Given the description of an element on the screen output the (x, y) to click on. 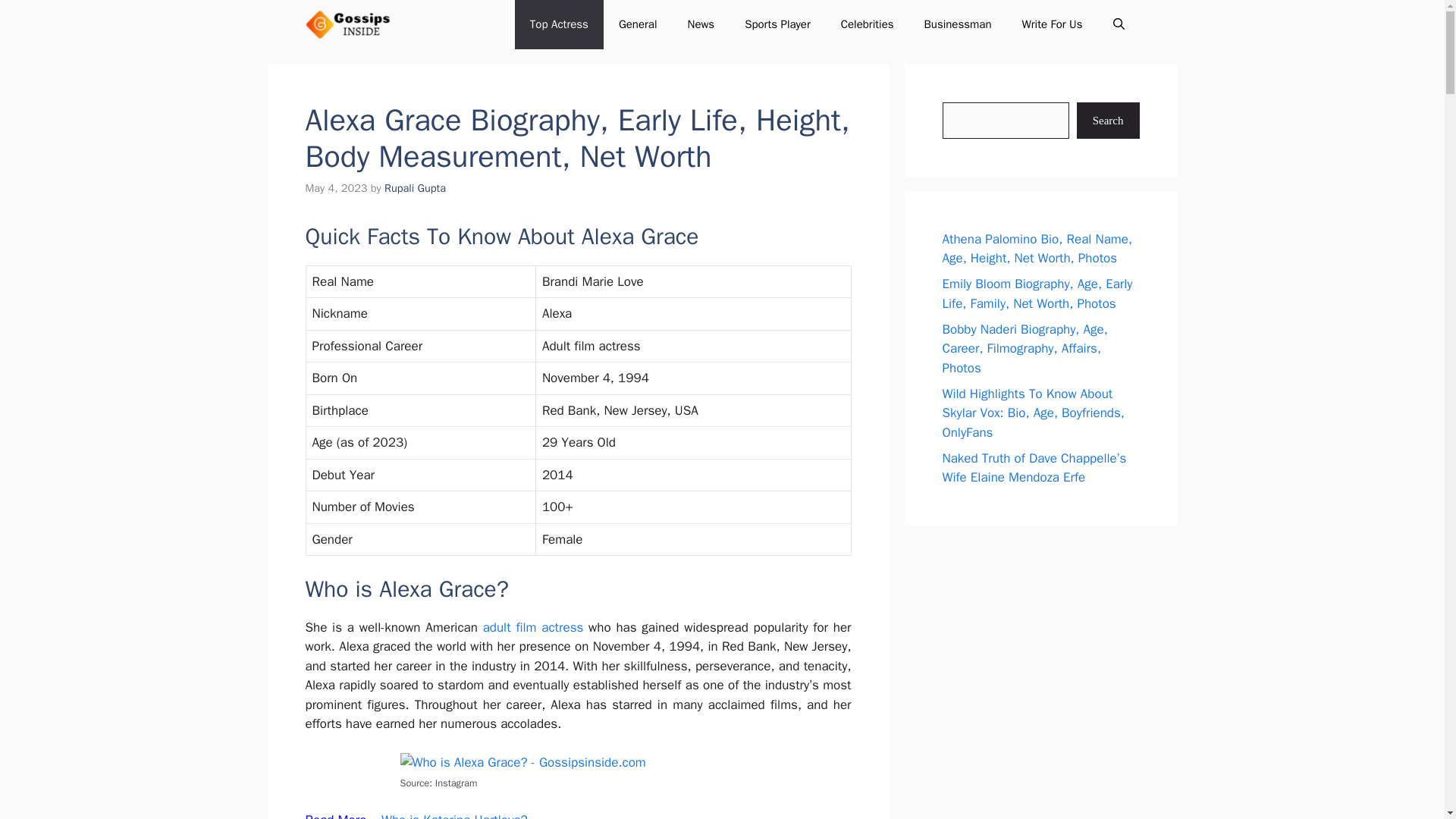
Sports Player (777, 24)
Celebrities (866, 24)
News (700, 24)
Rupali Gupta (414, 187)
Write For Us (1052, 24)
adult film actress (533, 627)
Top Actress (559, 24)
Who is Katerina Hartlova? (454, 815)
General (638, 24)
Businessman (957, 24)
